Given the description of an element on the screen output the (x, y) to click on. 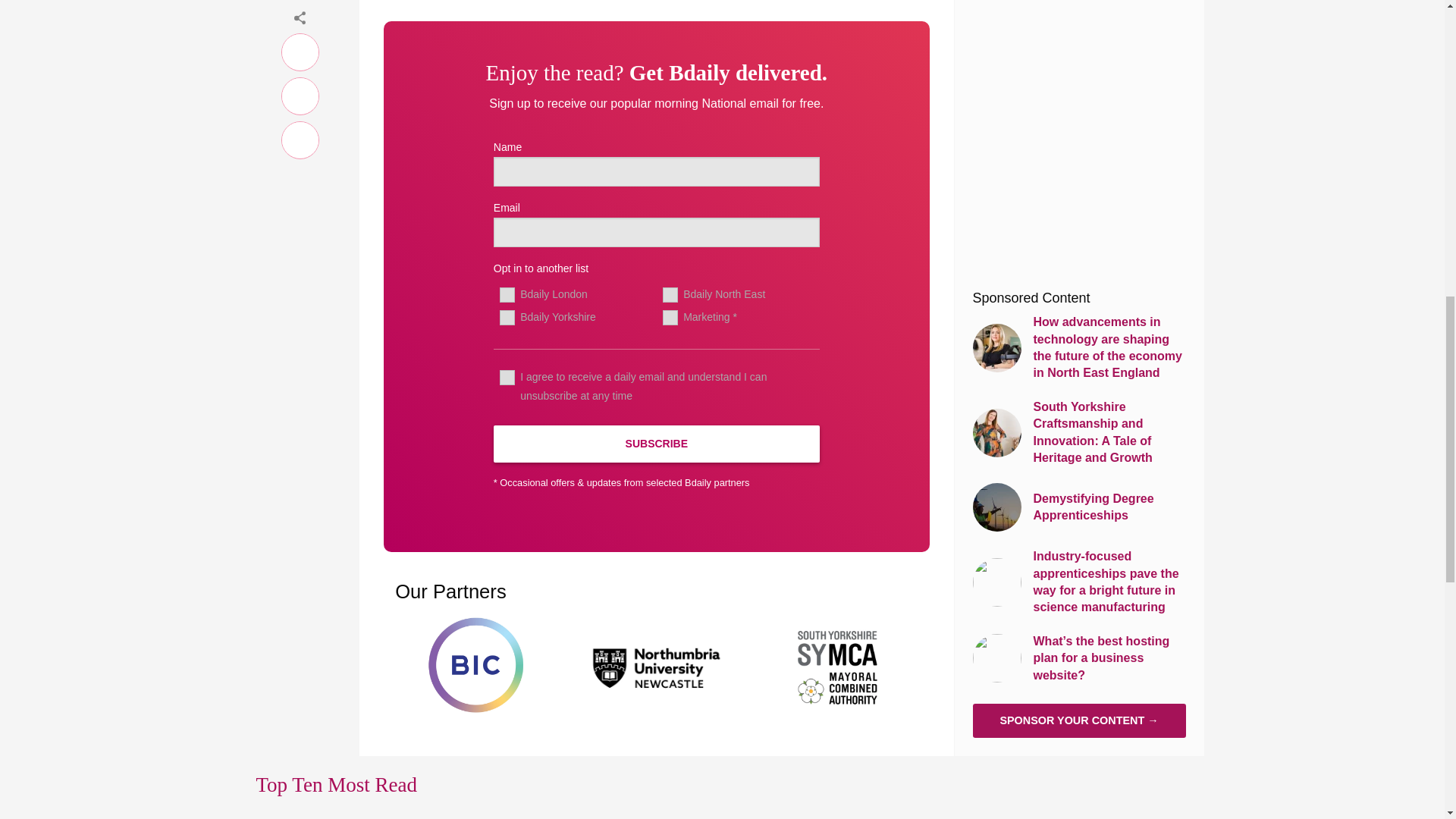
South Yorkshire Mayoral Combined Authority (838, 665)
SUBSCRIBE (656, 443)
North East BIC (474, 665)
Northumbria University Newcastle (656, 665)
